Given the description of an element on the screen output the (x, y) to click on. 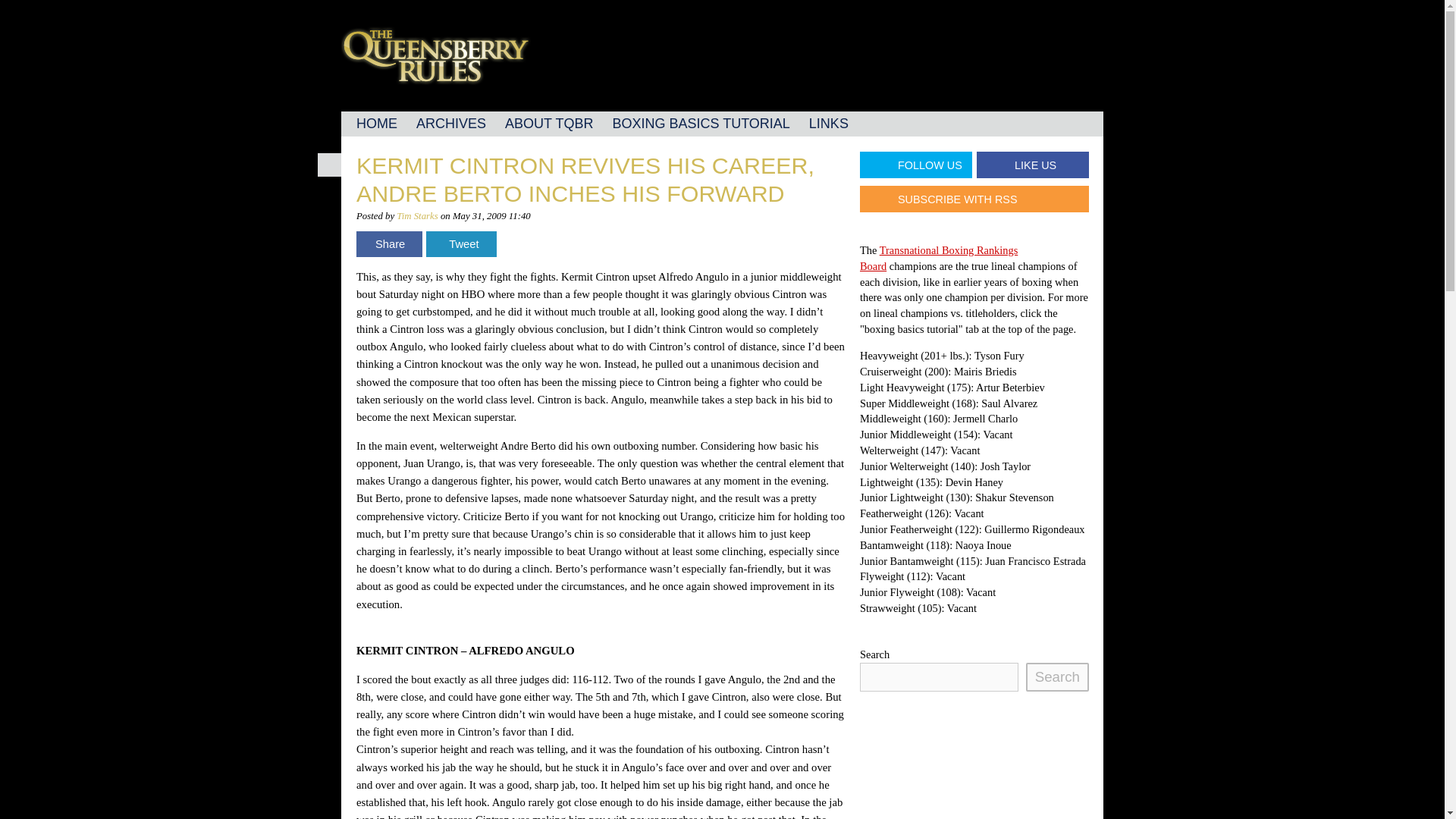
Share (389, 243)
FOLLOW US (916, 164)
LIKE US (1032, 164)
ABOUT TQBR (548, 123)
Search (1057, 676)
LINKS (829, 123)
HOME (376, 123)
BOXING BASICS TUTORIAL (700, 123)
Transnational Boxing Rankings Board (938, 257)
SUBSCRIBE WITH RSS (974, 198)
Tim Starks (417, 215)
Tweet (461, 243)
ARCHIVES (451, 123)
